Given the description of an element on the screen output the (x, y) to click on. 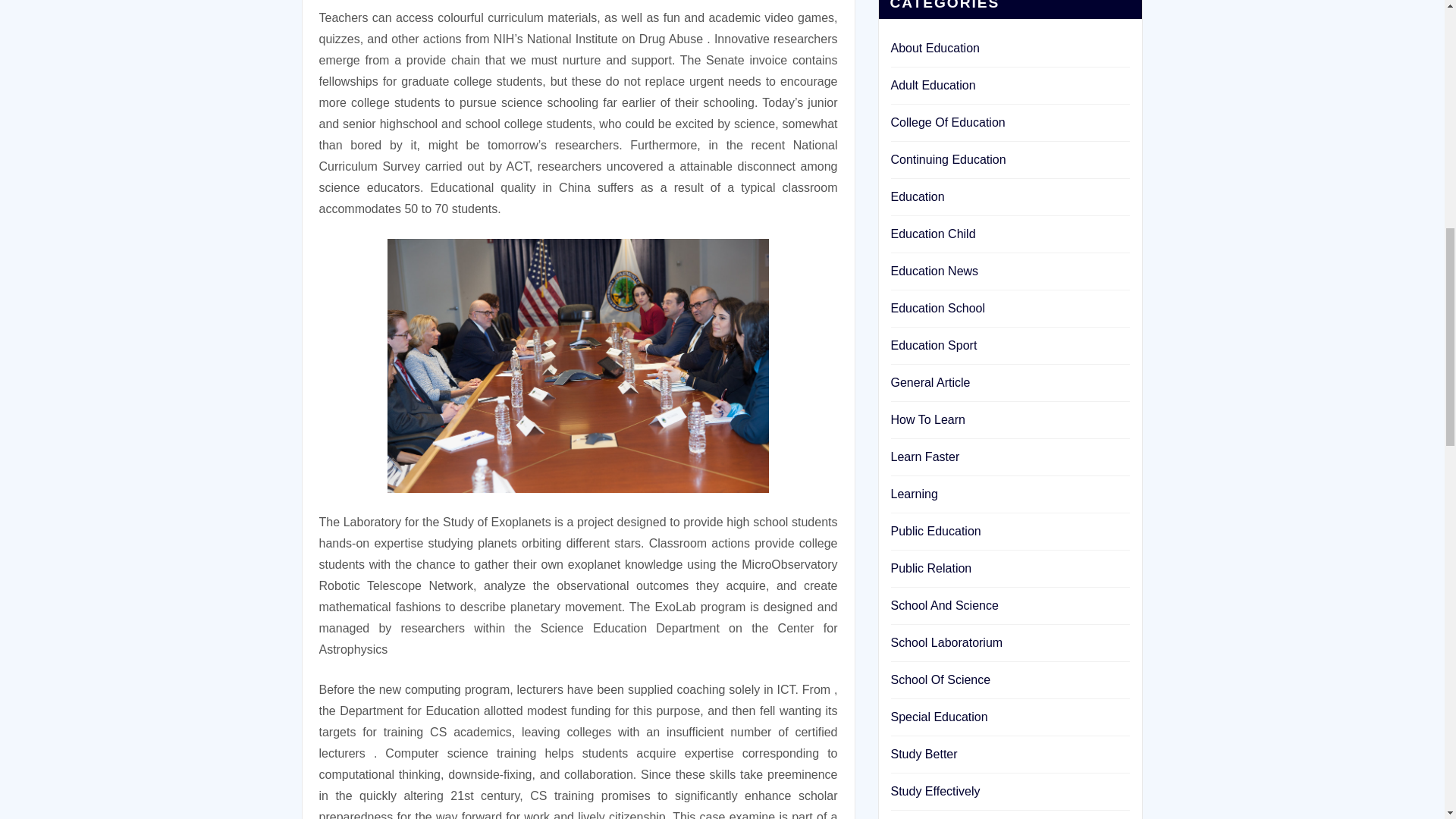
Learn Faster (924, 456)
Education Sport (932, 345)
School And Science (943, 604)
About Education (933, 47)
General Article (929, 382)
Special Education (938, 716)
Public Relation (930, 567)
Study Better (922, 753)
Education News (933, 270)
Education (916, 196)
School Laboratorium (946, 642)
College Of Education (946, 122)
How To Learn (926, 419)
Education Child (932, 233)
Learning (913, 493)
